Given the description of an element on the screen output the (x, y) to click on. 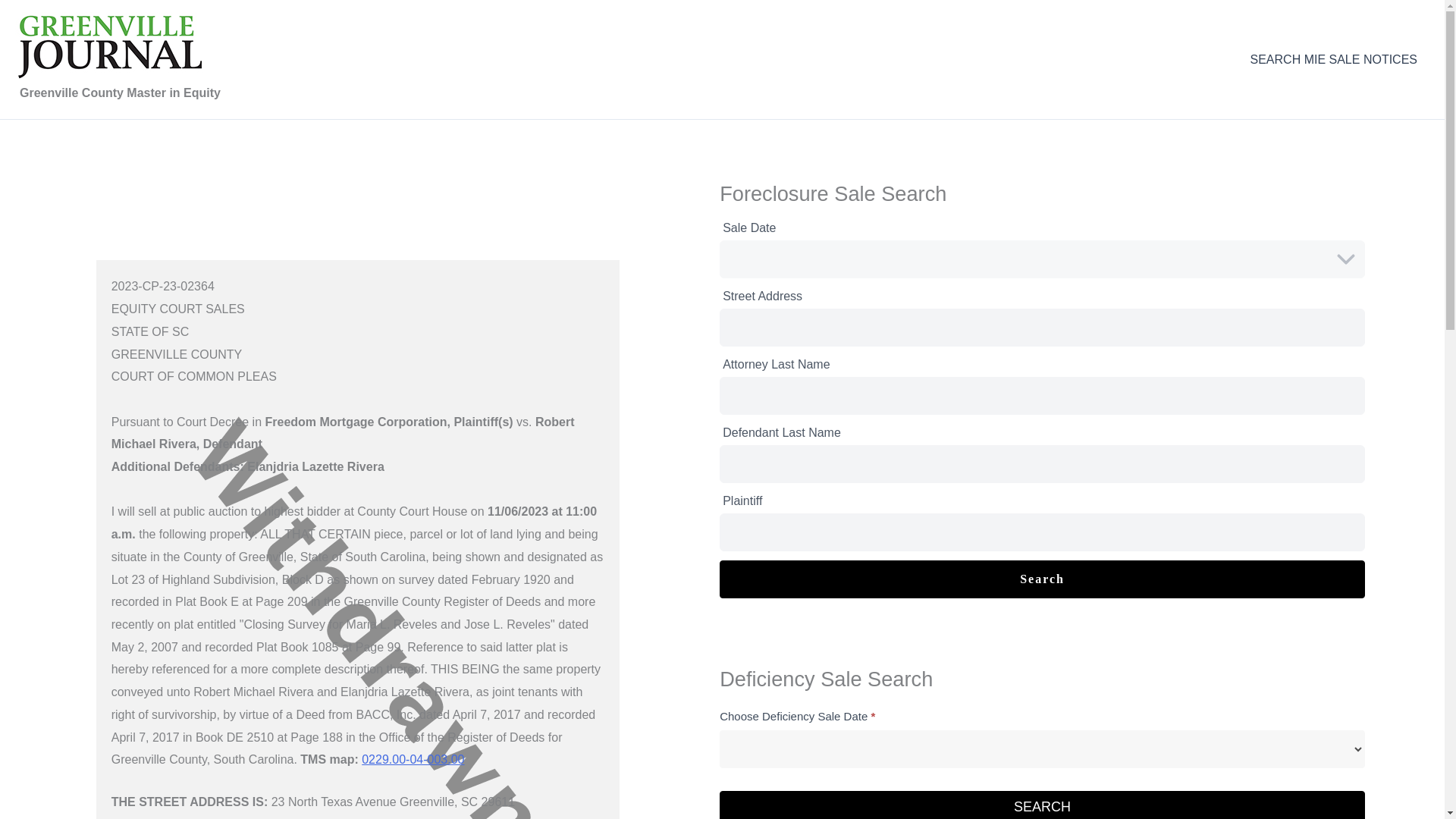
0229.00-04-003.00 (412, 758)
SEARCH (1042, 805)
SEARCH MIE SALE NOTICES (1333, 58)
